Given the description of an element on the screen output the (x, y) to click on. 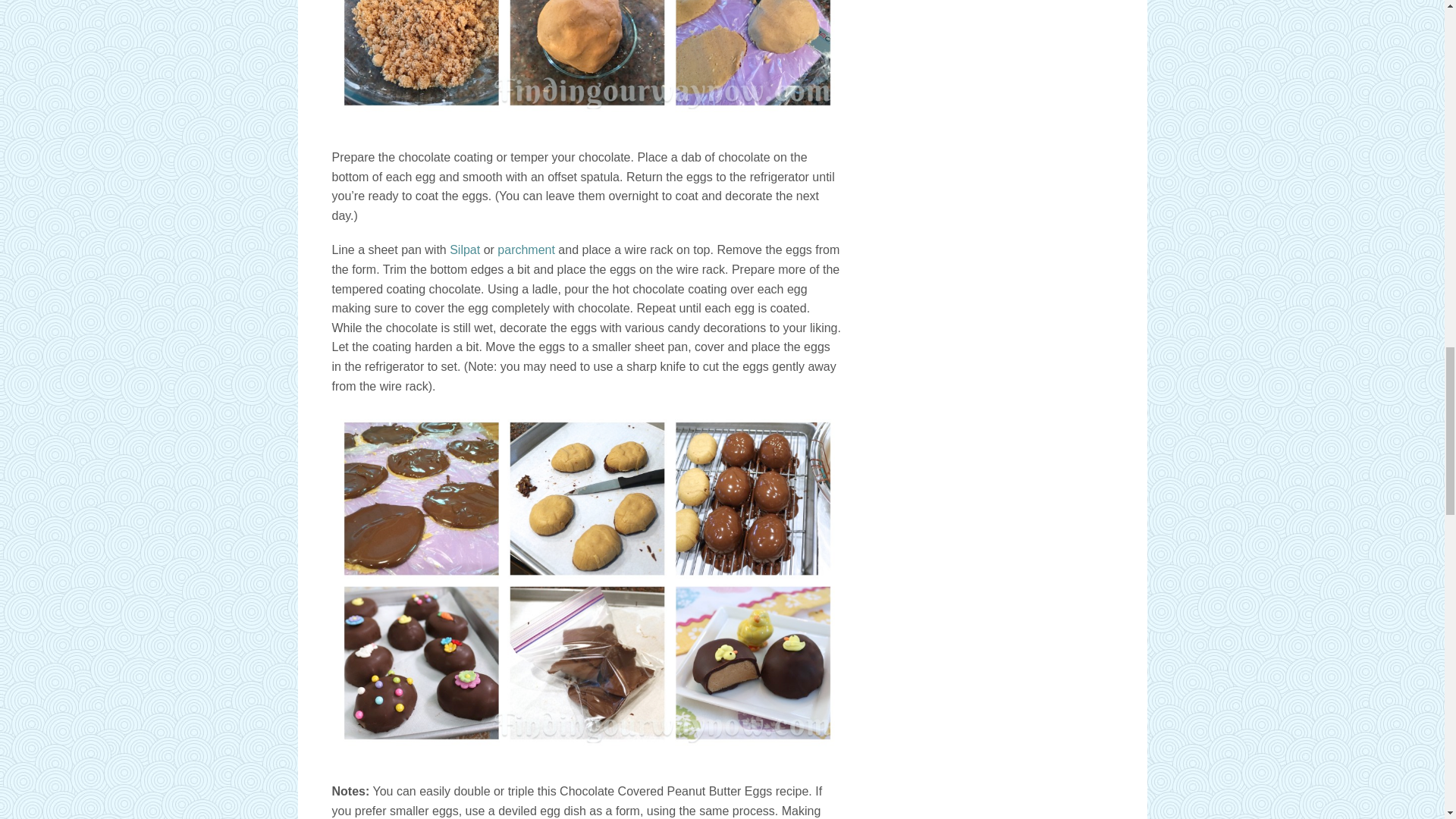
Chocolate Covered Peanut Butter Eggs, findingourwaynow.com (587, 58)
